Given the description of an element on the screen output the (x, y) to click on. 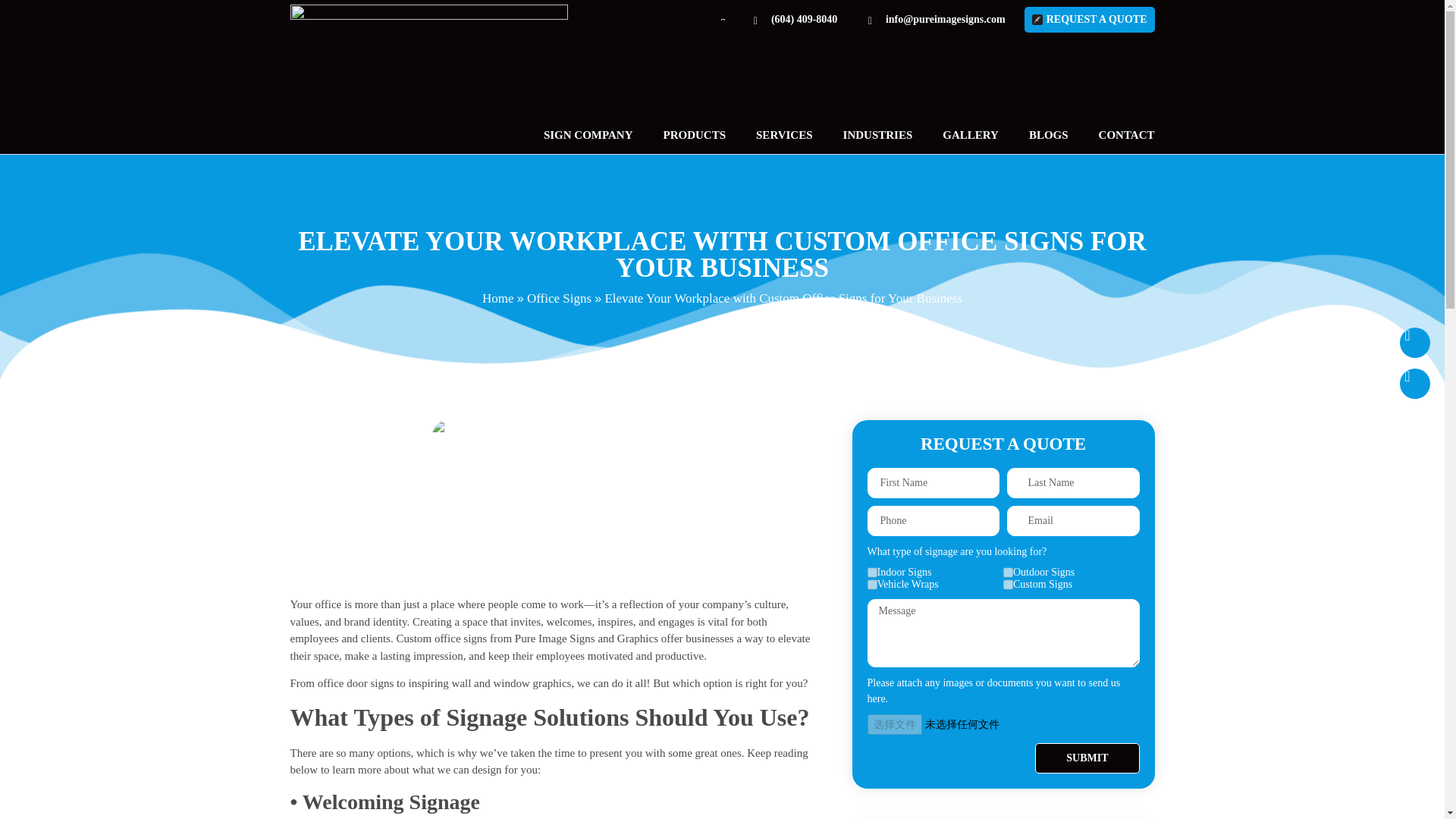
PRODUCTS (694, 134)
REQUEST A QUOTE (1089, 18)
Outdoor Signs (1008, 572)
Home (497, 298)
Vehicle Wraps (872, 584)
Custom Signs (1008, 584)
Indoor Signs (872, 572)
Office Signs (559, 298)
SIGN COMPANY (588, 134)
